Given the description of an element on the screen output the (x, y) to click on. 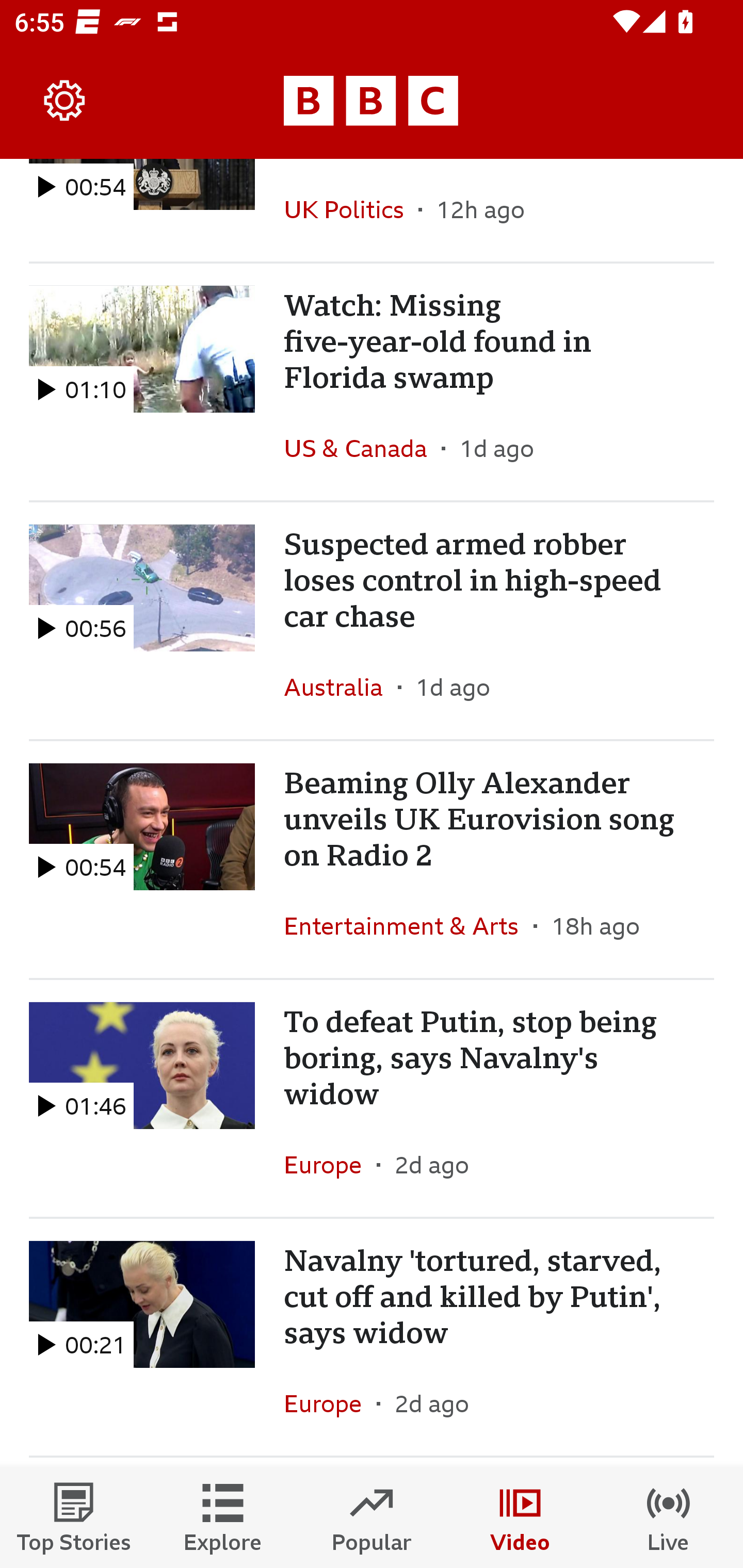
Settings (64, 100)
UK Politics In the section UK Politics (350, 209)
US & Canada In the section US & Canada (362, 448)
Australia In the section Australia (340, 686)
Europe In the section Europe (329, 1164)
Europe In the section Europe (329, 1403)
Top Stories (74, 1517)
Explore (222, 1517)
Popular (371, 1517)
Live (668, 1517)
